Given the description of an element on the screen output the (x, y) to click on. 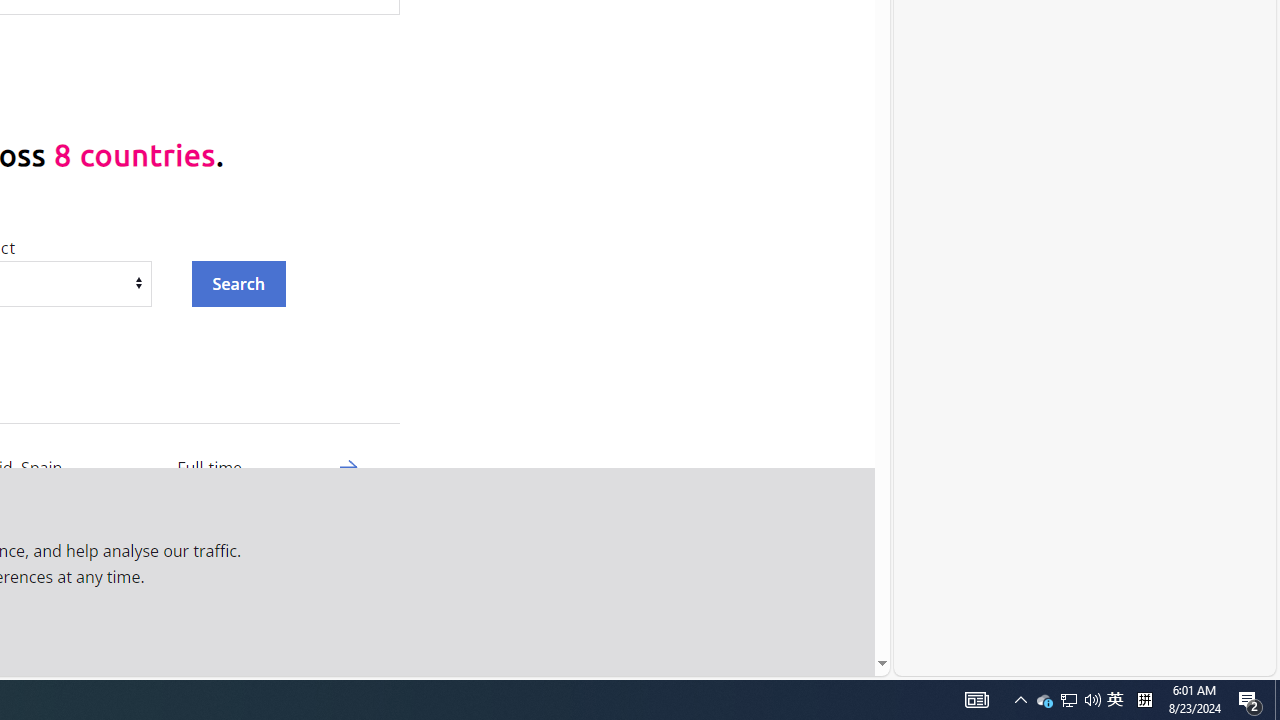
Read full details about role: Full Stack Engineer (1115, 699)
